Given the description of an element on the screen output the (x, y) to click on. 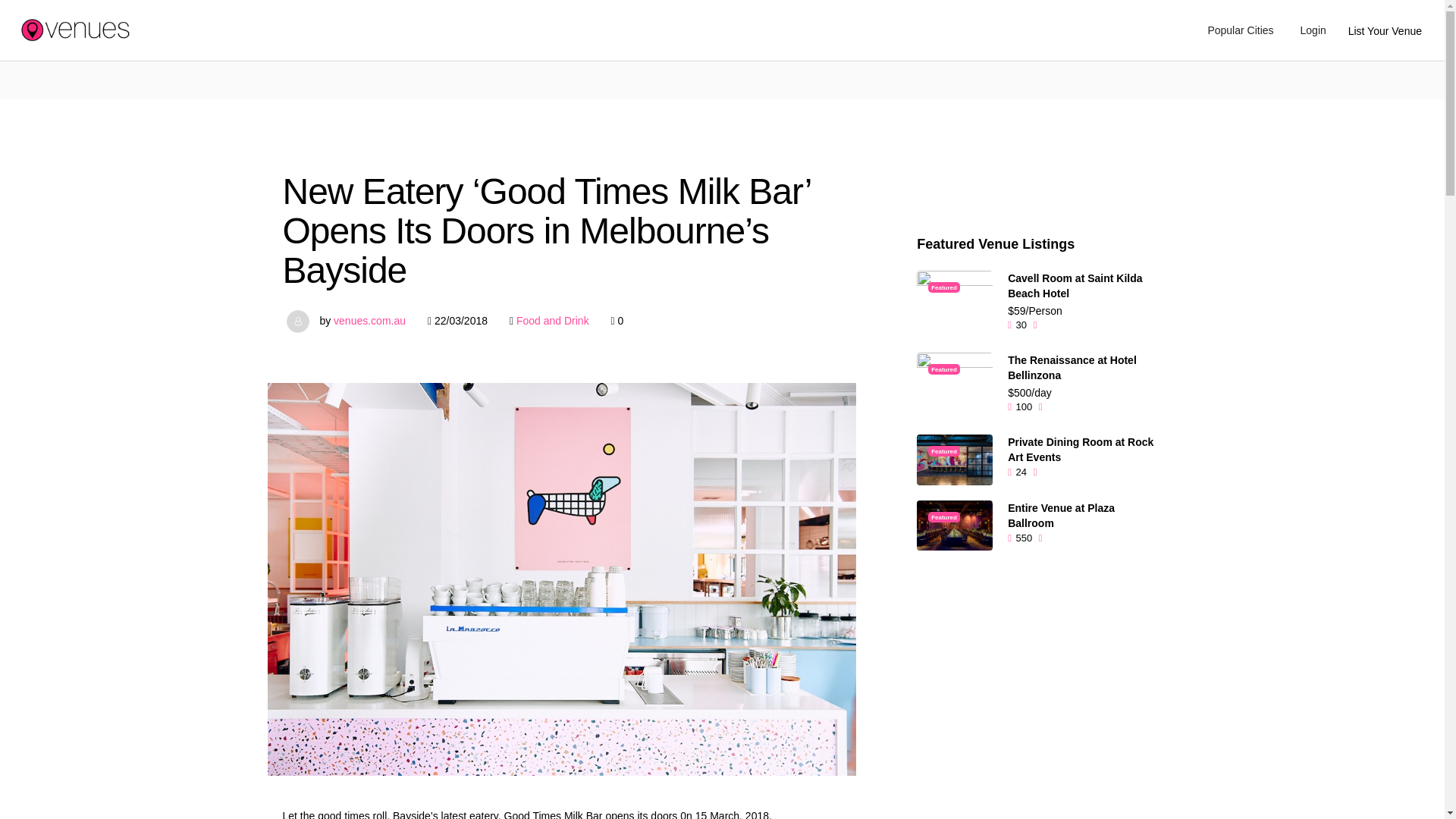
Popular Cities (1239, 30)
List Your Venue (1384, 30)
venues.com.au (369, 320)
Food and Drink (552, 320)
